Given the description of an element on the screen output the (x, y) to click on. 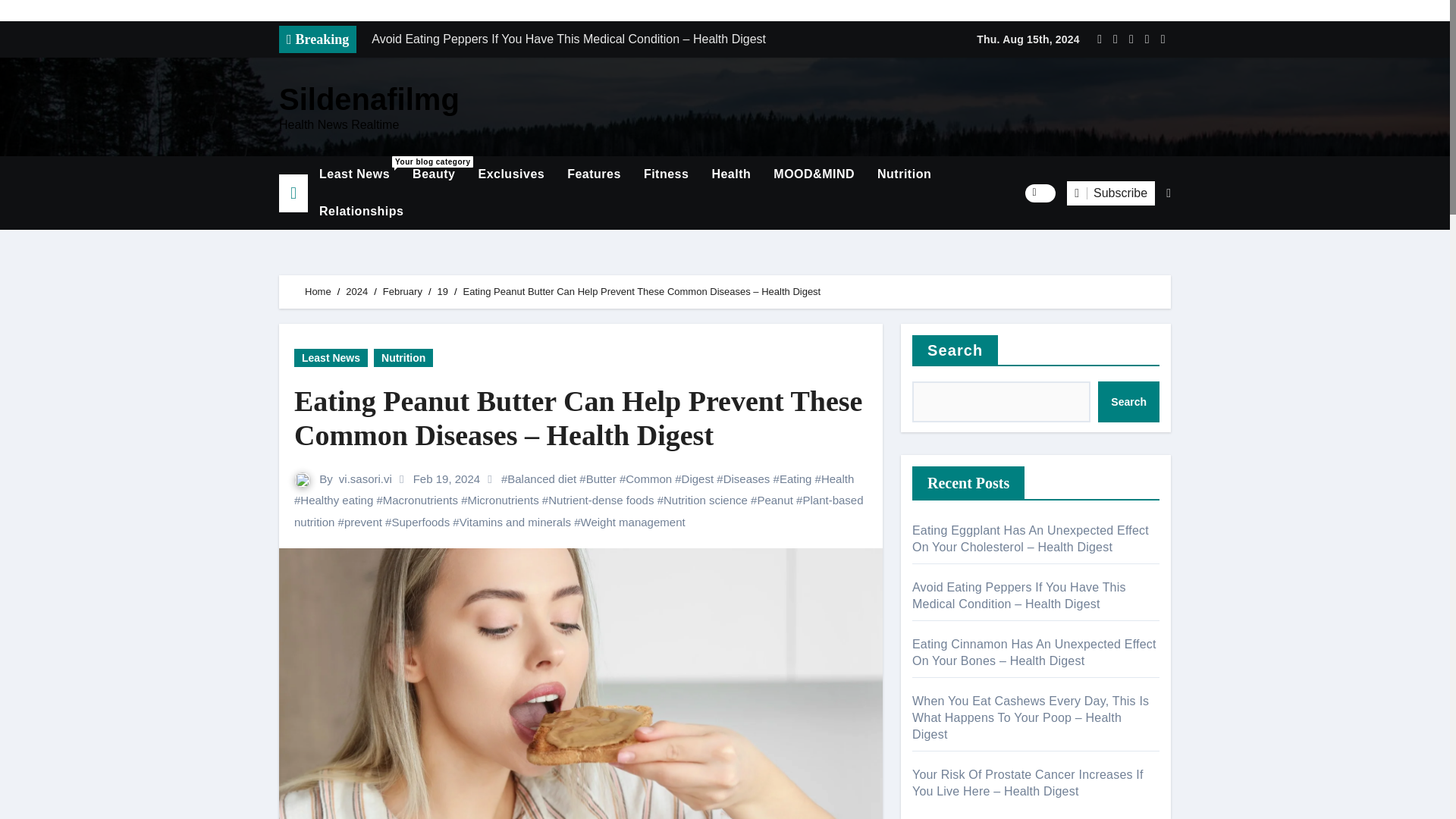
Least News (354, 174)
Features (354, 174)
Features (593, 174)
Beauty (593, 174)
February (433, 174)
Home (402, 291)
Nutrition (317, 291)
Sildenafilmg (904, 174)
2024 (369, 99)
